Given the description of an element on the screen output the (x, y) to click on. 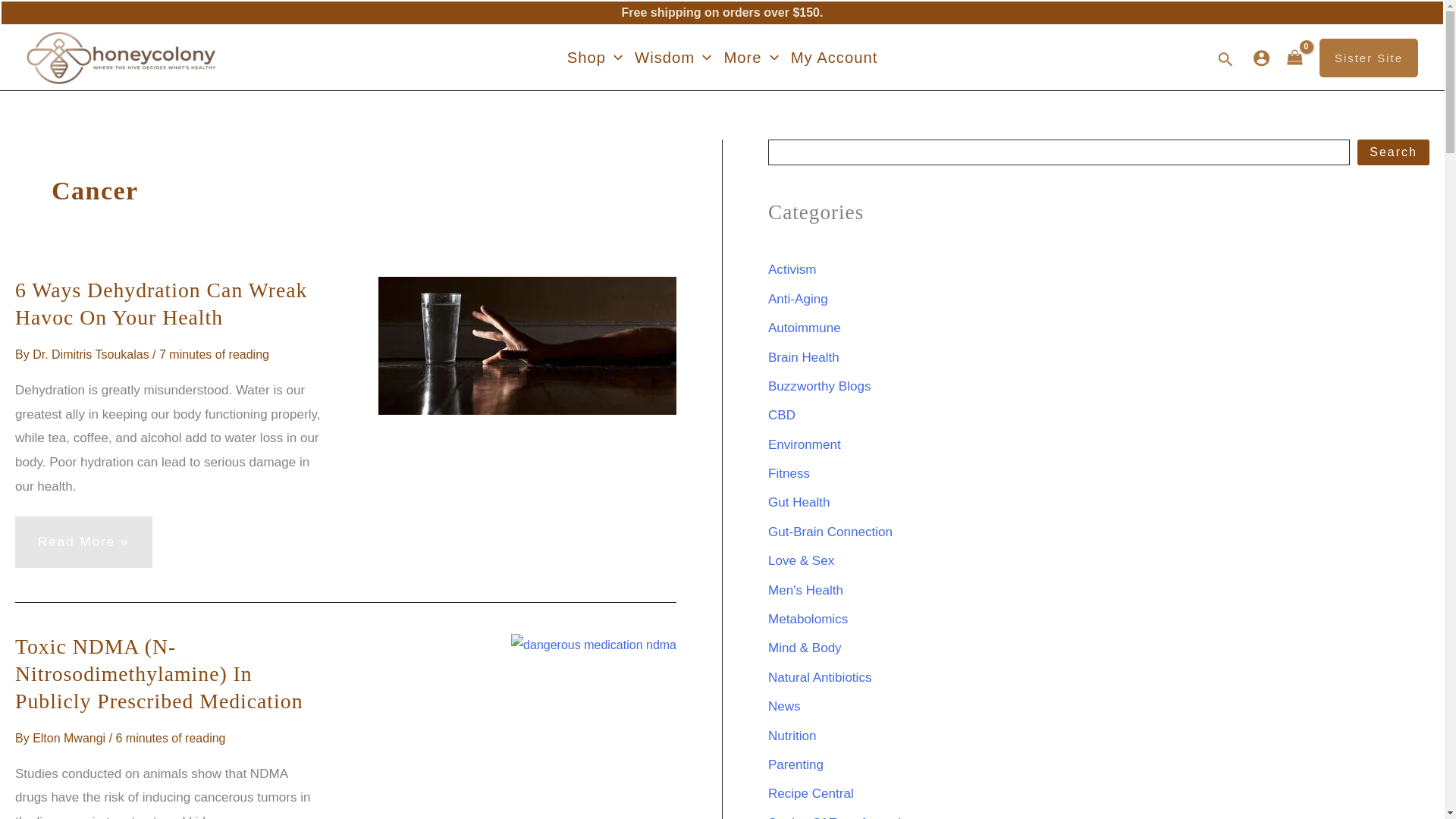
View all posts by Dr. Dimitris Tsoukalas (92, 354)
View all posts by Elton Mwangi (70, 738)
Shop (594, 56)
